Given the description of an element on the screen output the (x, y) to click on. 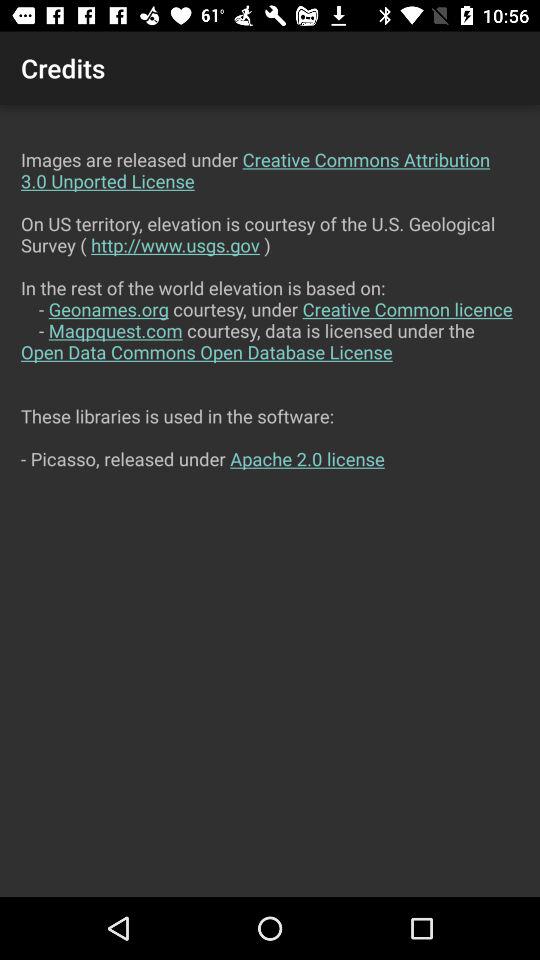
turn on icon below the credits app (270, 500)
